Given the description of an element on the screen output the (x, y) to click on. 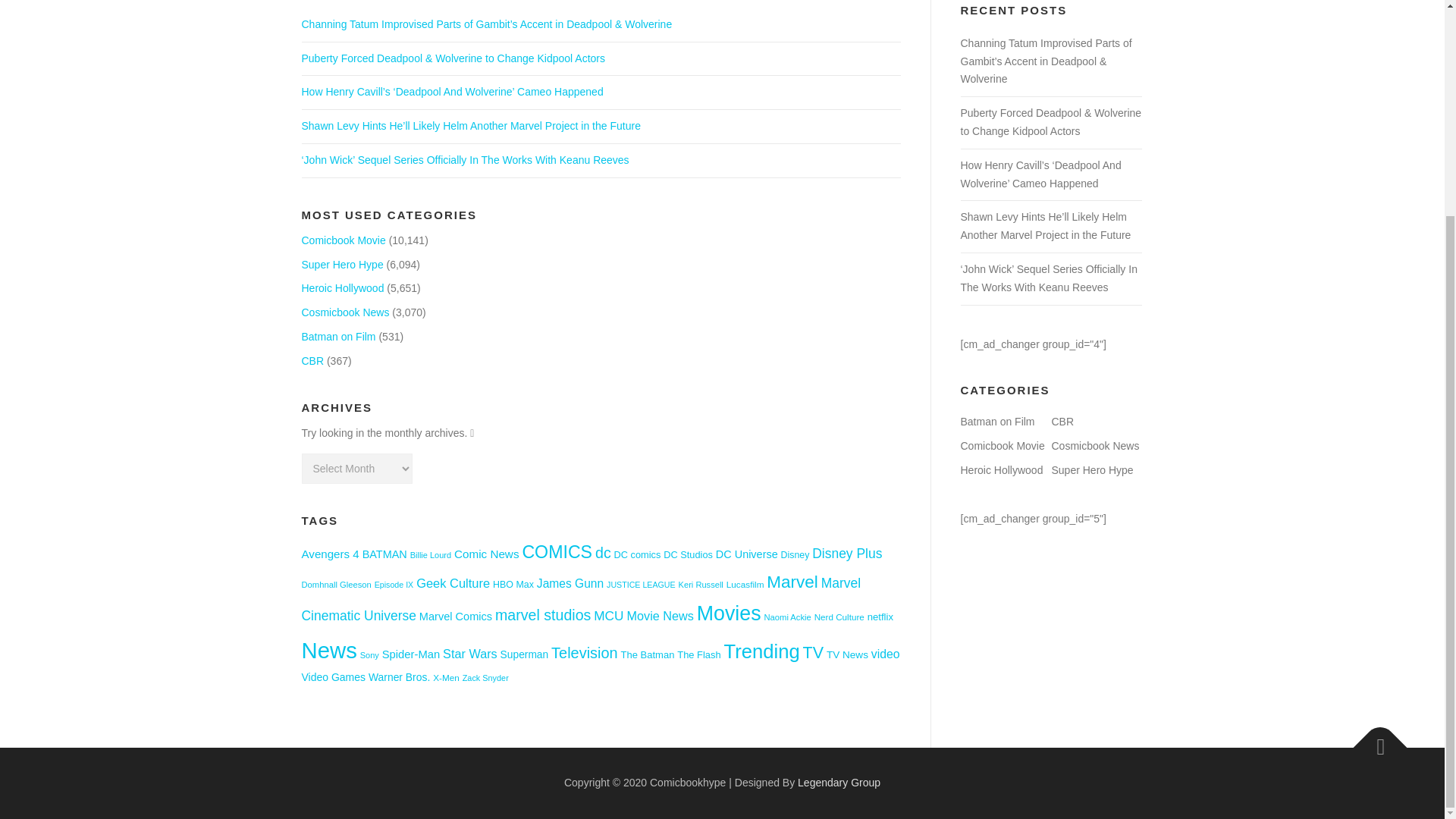
Cosmicbook News (345, 312)
Batman on Film (338, 336)
Comicbook Movie (343, 240)
Lucasfilm (745, 583)
Billie Lourd (430, 554)
BATMAN (384, 553)
James Gunn (570, 583)
Super Hero Hype (342, 264)
DC Universe (746, 553)
Back To Top (1372, 740)
HBO Max (513, 584)
Geek Culture (452, 582)
Episode IX (393, 583)
DC comics (637, 554)
Heroic Hollywood (342, 287)
